Given the description of an element on the screen output the (x, y) to click on. 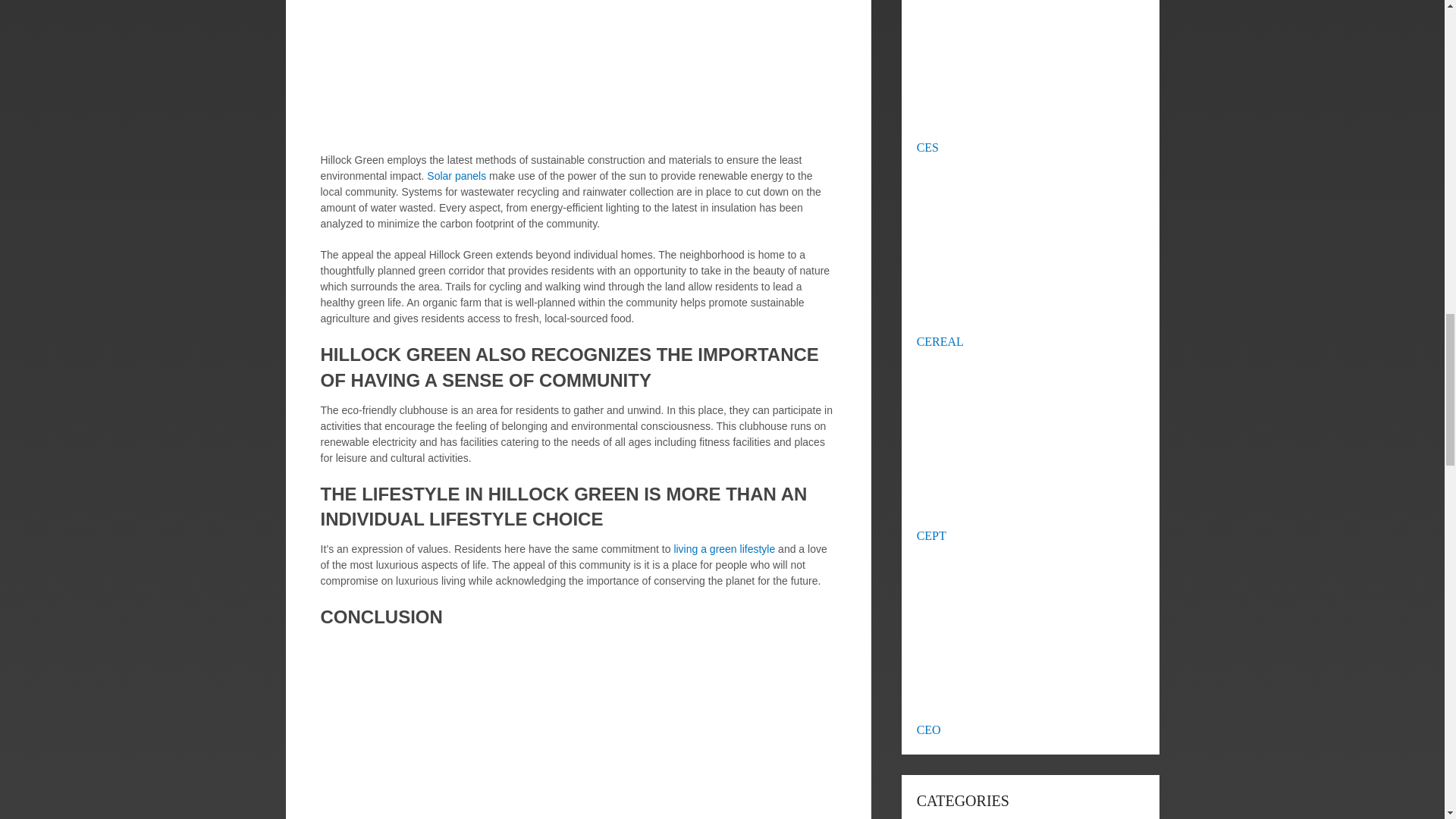
Solar panels (456, 175)
living a green lifestyle (723, 548)
